Given the description of an element on the screen output the (x, y) to click on. 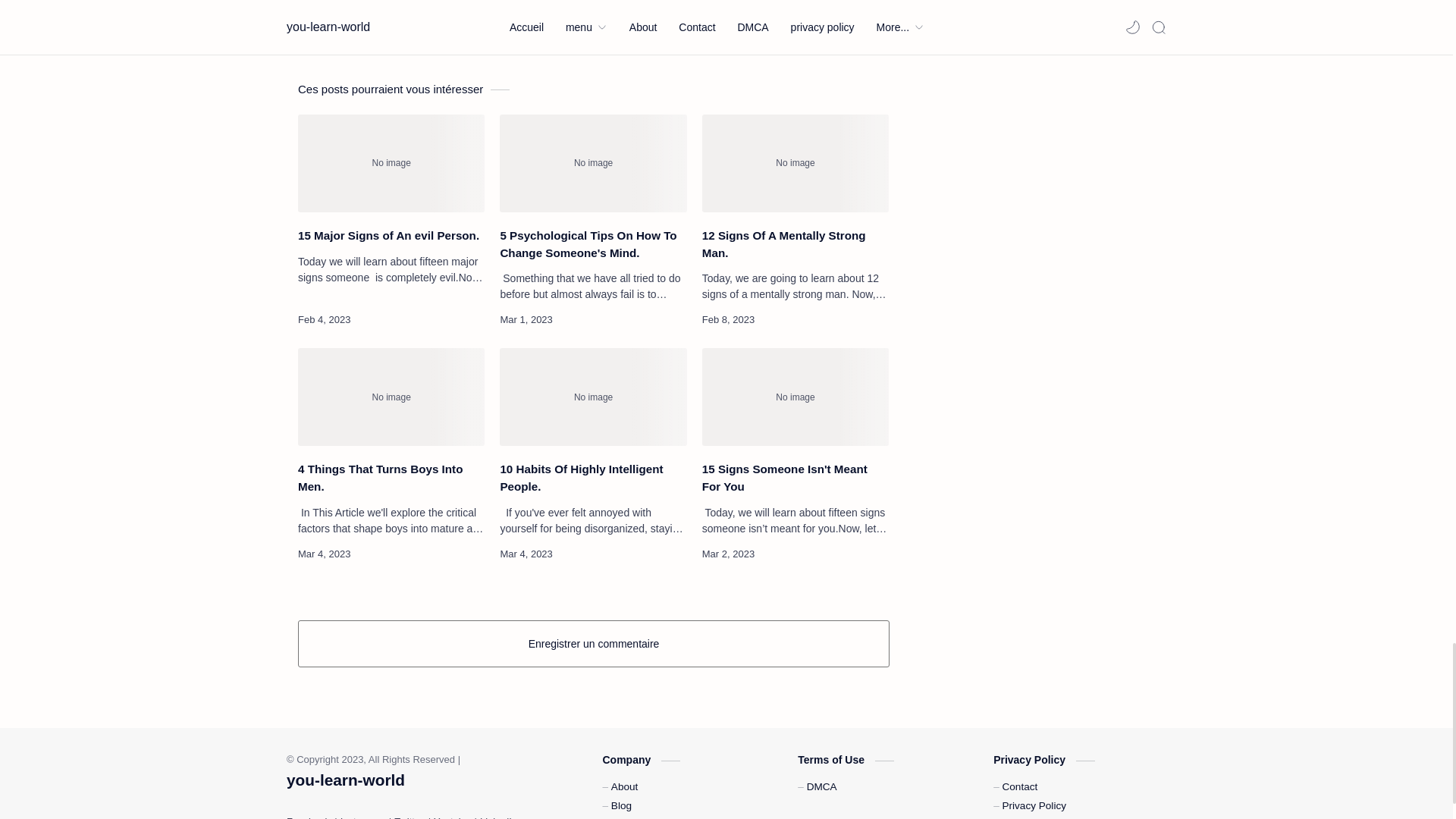
15 Signs Someone Isn't Meant For You (794, 396)
5 Psychological Tips On How To Change Someone's Mind. (592, 163)
10 Habits Of Highly Intelligent People.  (592, 396)
12  Signs Of A Mentally Strong Man. (794, 163)
15 Major Signs of An evil Person. (391, 163)
4 Things That Turns Boys Into Men. (391, 396)
